Given the description of an element on the screen output the (x, y) to click on. 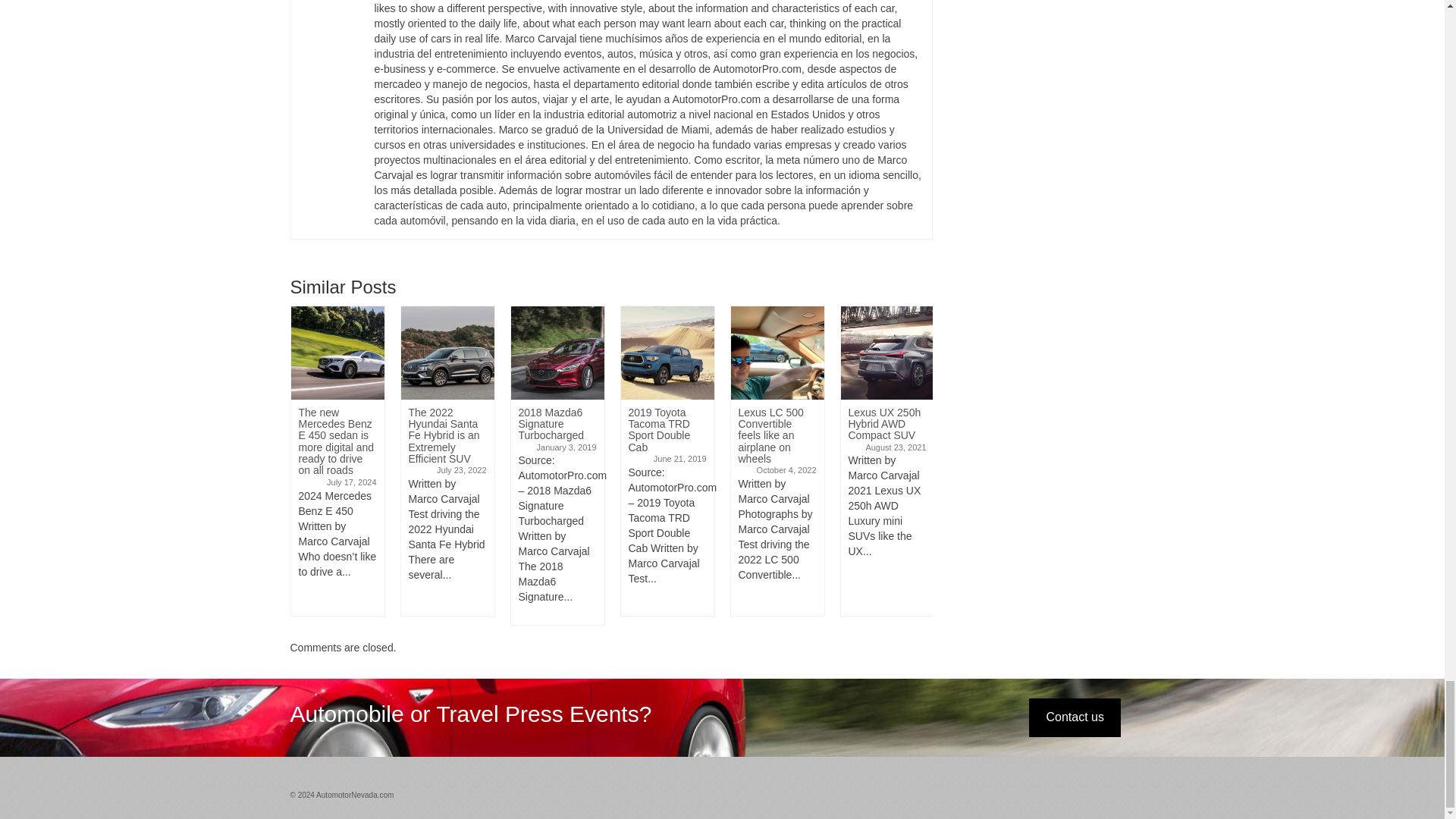
2018 Mazda6 Signature Turbocharged (557, 352)
